Given the description of an element on the screen output the (x, y) to click on. 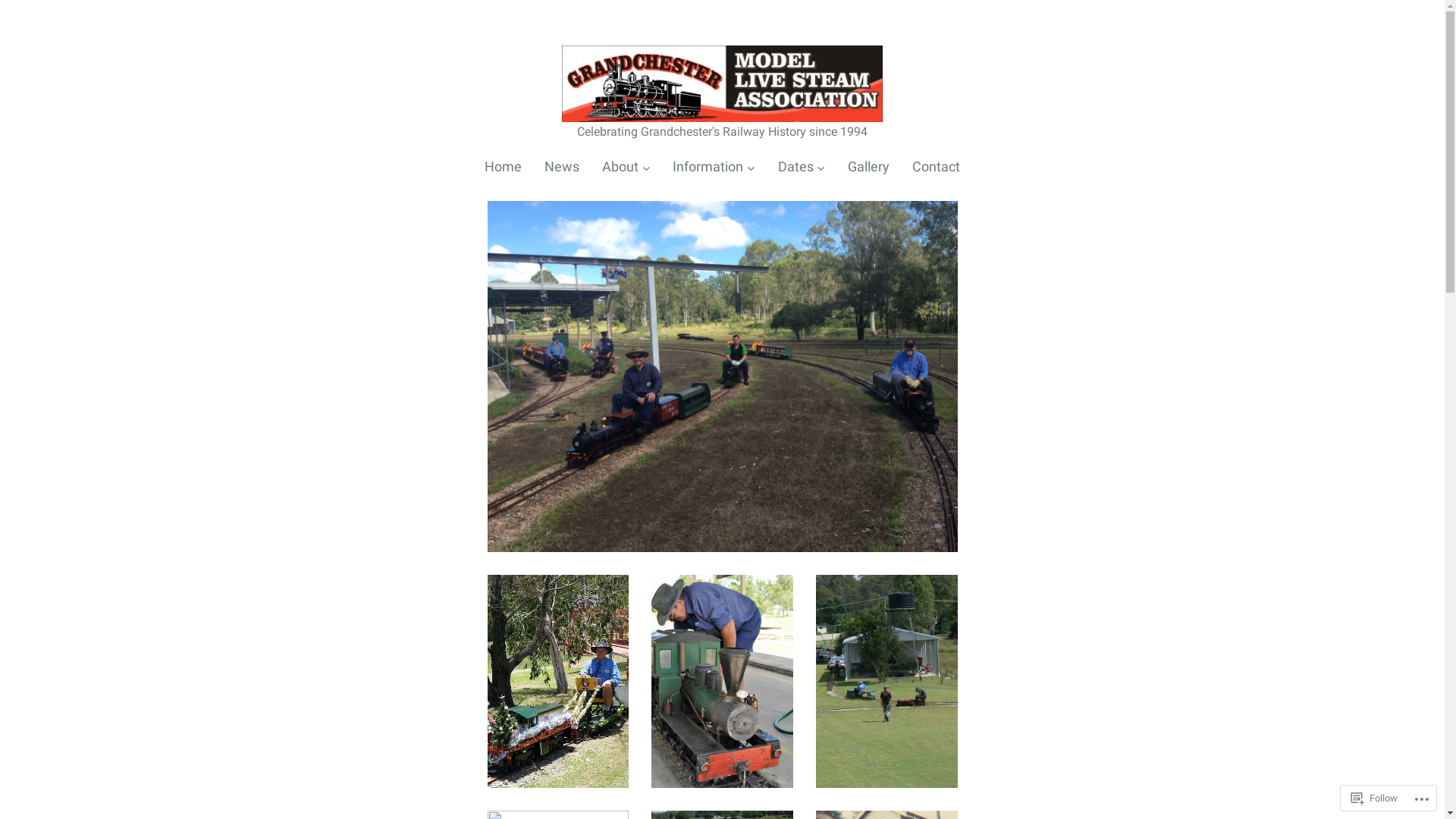
Follow Element type: text (1374, 797)
Contact Element type: text (936, 167)
About Element type: text (620, 167)
News Element type: text (561, 167)
Dates Element type: text (795, 167)
Information Element type: text (707, 167)
Home Element type: text (502, 167)
Gallery Element type: text (868, 167)
